Given the description of an element on the screen output the (x, y) to click on. 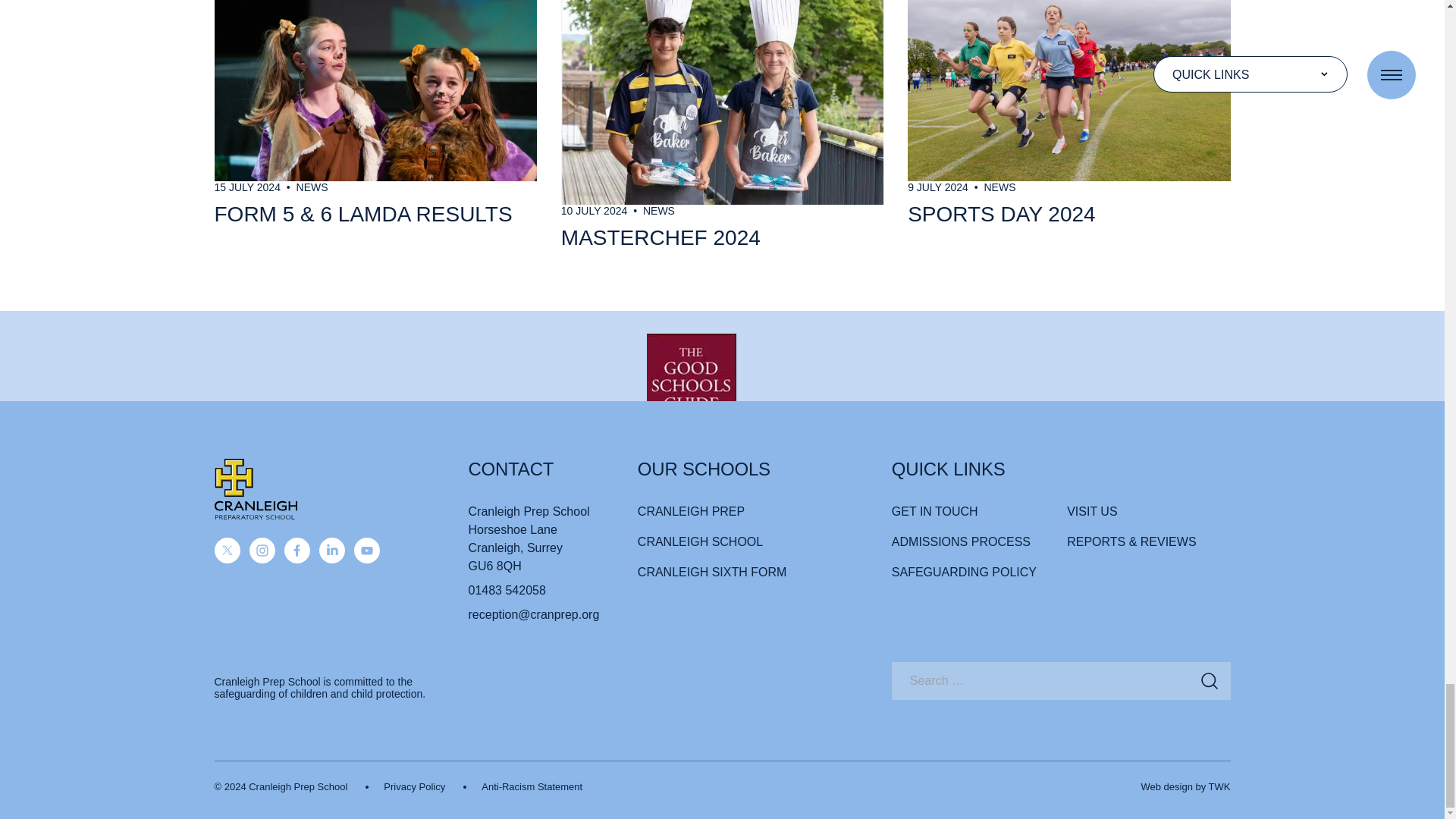
Search (1209, 680)
Search (1209, 680)
